Given the description of an element on the screen output the (x, y) to click on. 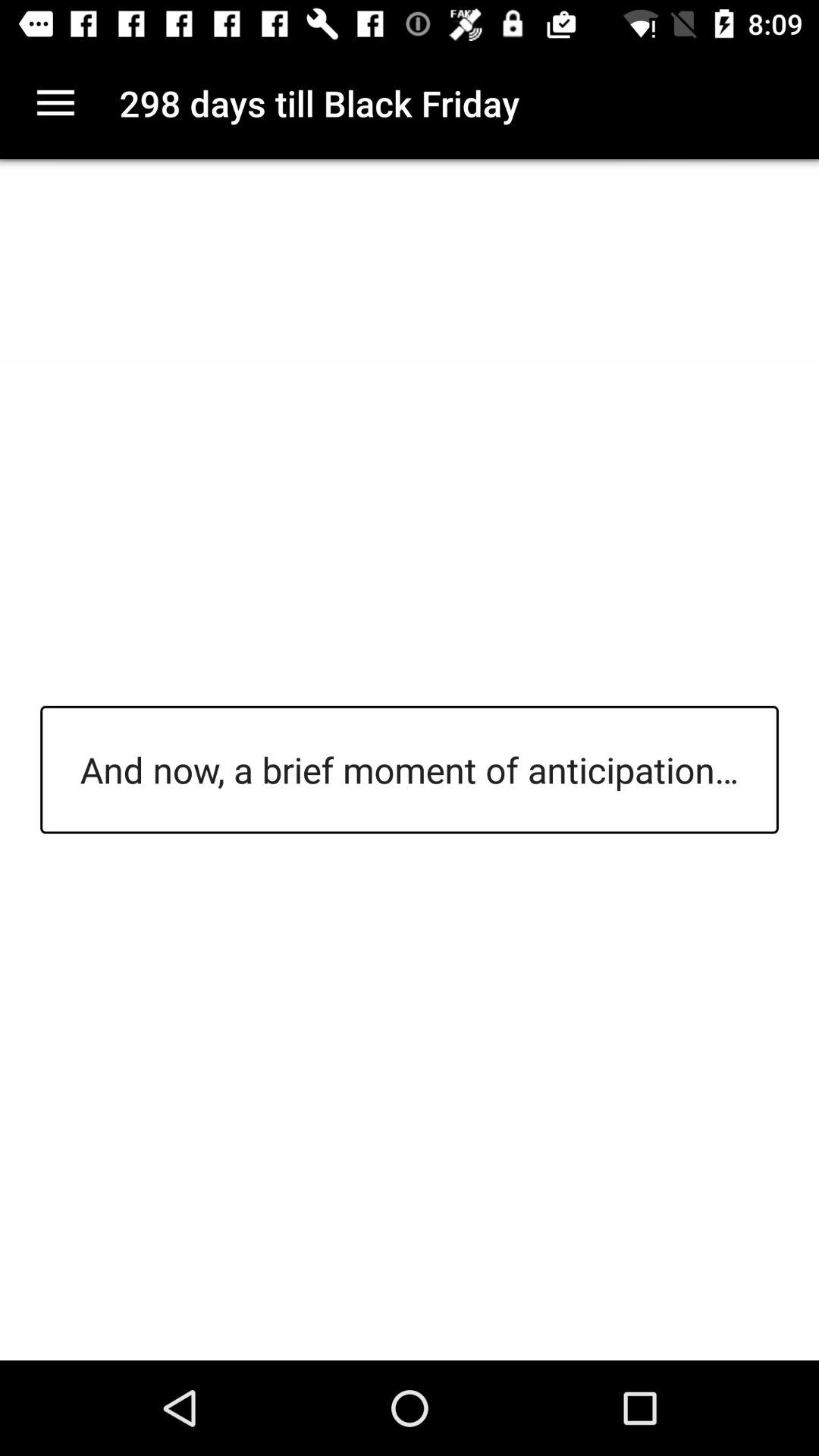
turn on item next to the 298 days till icon (55, 103)
